Given the description of an element on the screen output the (x, y) to click on. 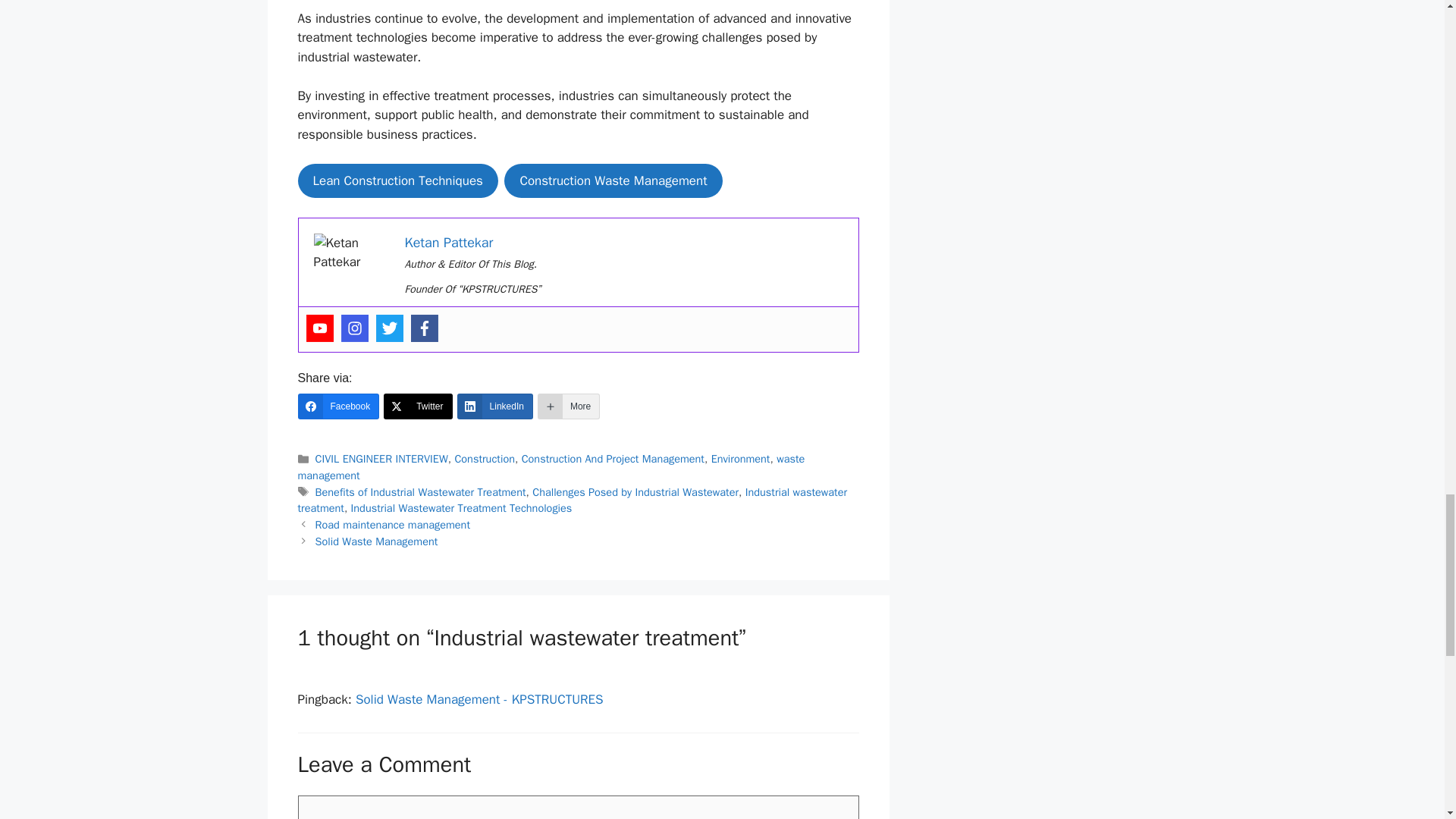
Facebook (424, 328)
Twitter (389, 328)
Instagram (354, 328)
Youtube (319, 328)
Lean Construction Techniques (397, 181)
